Given the description of an element on the screen output the (x, y) to click on. 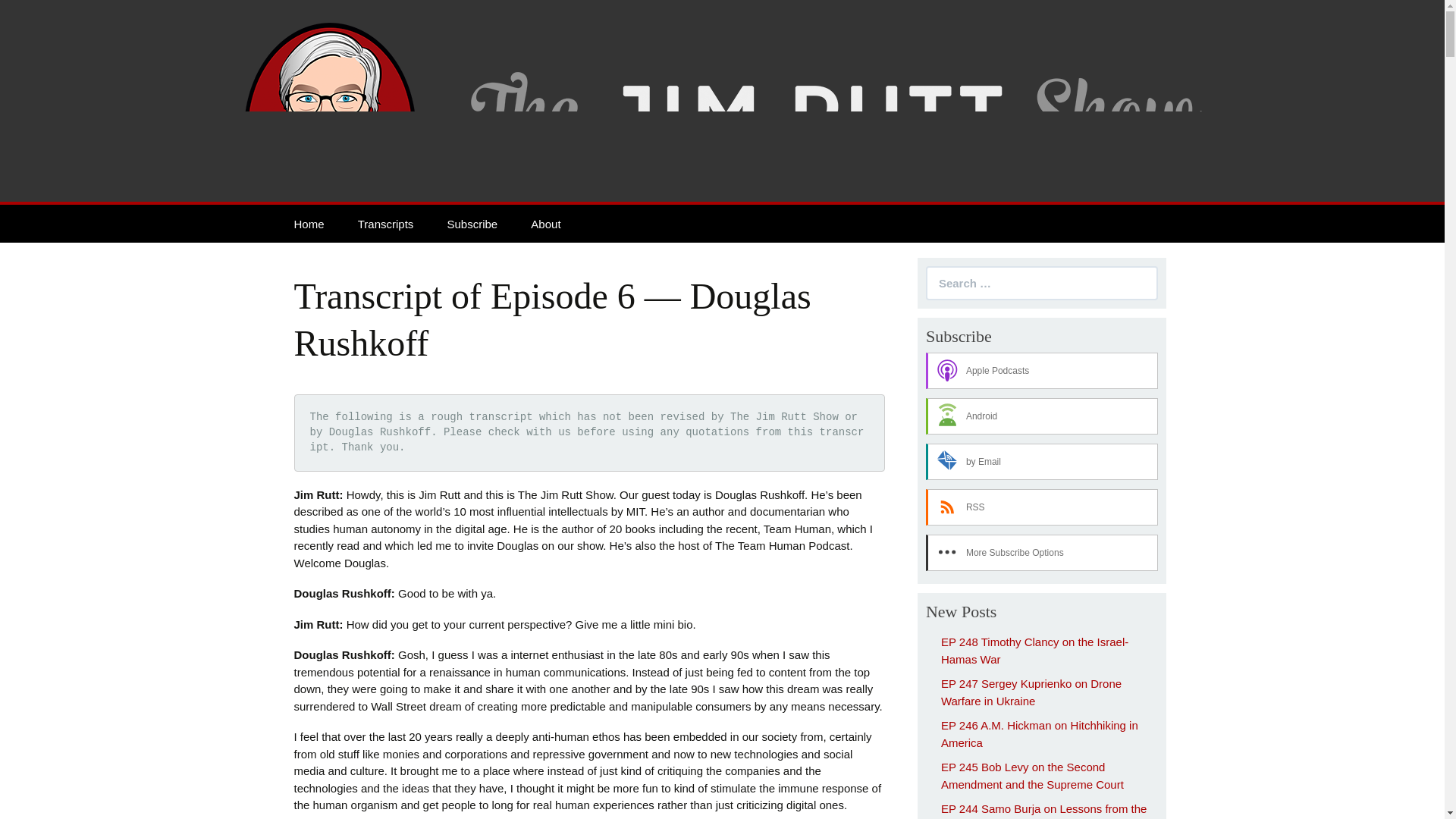
More Subscribe Options (1041, 552)
Subscribe on Apple Podcasts (1041, 370)
Home (309, 223)
Subscribe on Android (1041, 416)
EP 246 A.M. Hickman on Hitchhiking in America (1039, 734)
EP 244 Samo Burja on Lessons from the Russo-Ukrainian War (1043, 810)
EP 247 Sergey Kuprienko on Drone Warfare in Ukraine (1030, 692)
Search (23, 11)
by Email (1041, 461)
Android (1041, 416)
More Subscribe Options (1041, 552)
EP 248 Timothy Clancy on the Israel-Hamas War (1034, 650)
Transcripts (385, 223)
Subscribe (471, 223)
